Given the description of an element on the screen output the (x, y) to click on. 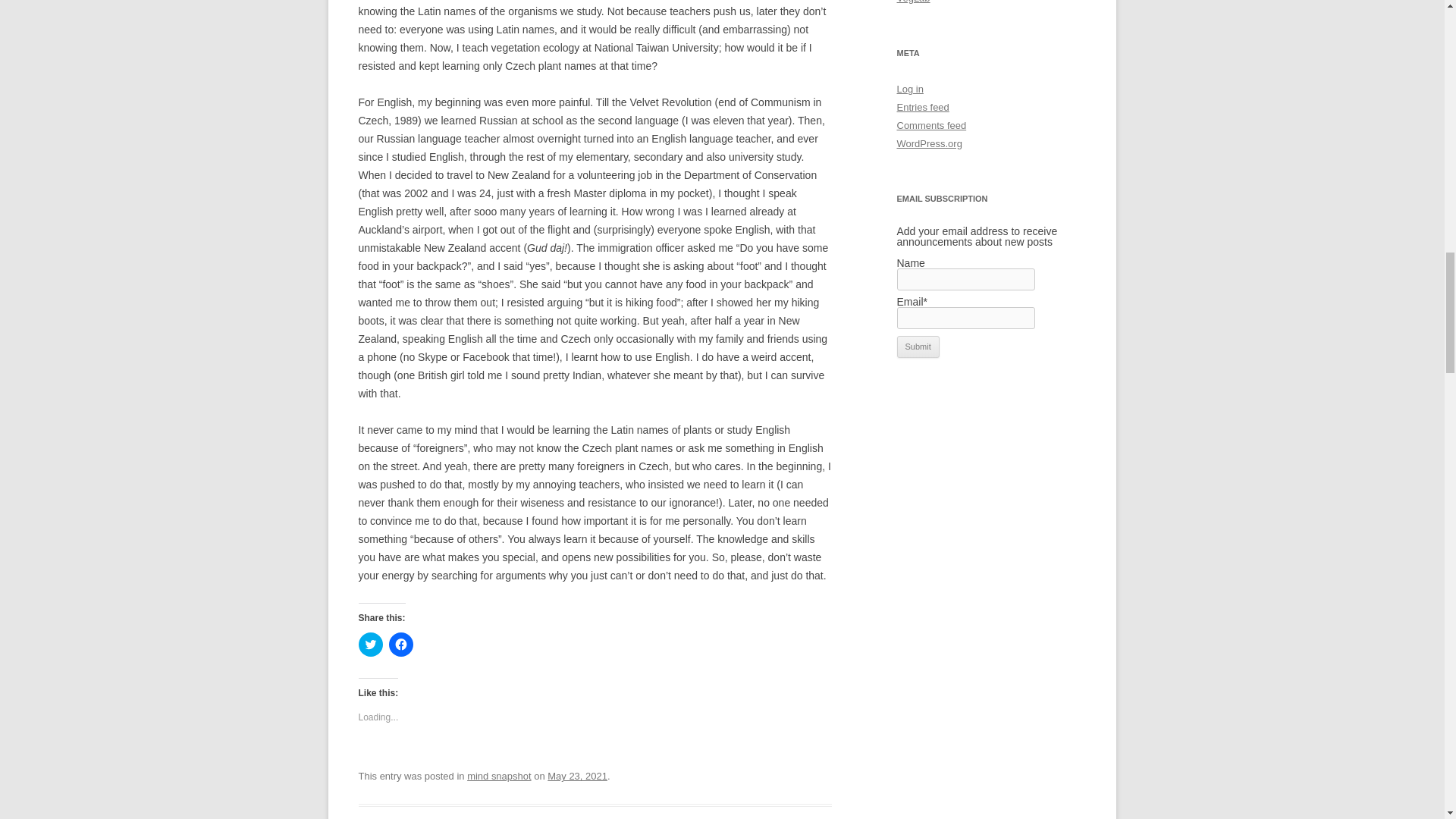
mind snapshot (499, 776)
Click to share on Facebook (400, 644)
Submit (917, 346)
11:01 am (577, 776)
Click to share on Twitter (369, 644)
May 23, 2021 (577, 776)
